Given the description of an element on the screen output the (x, y) to click on. 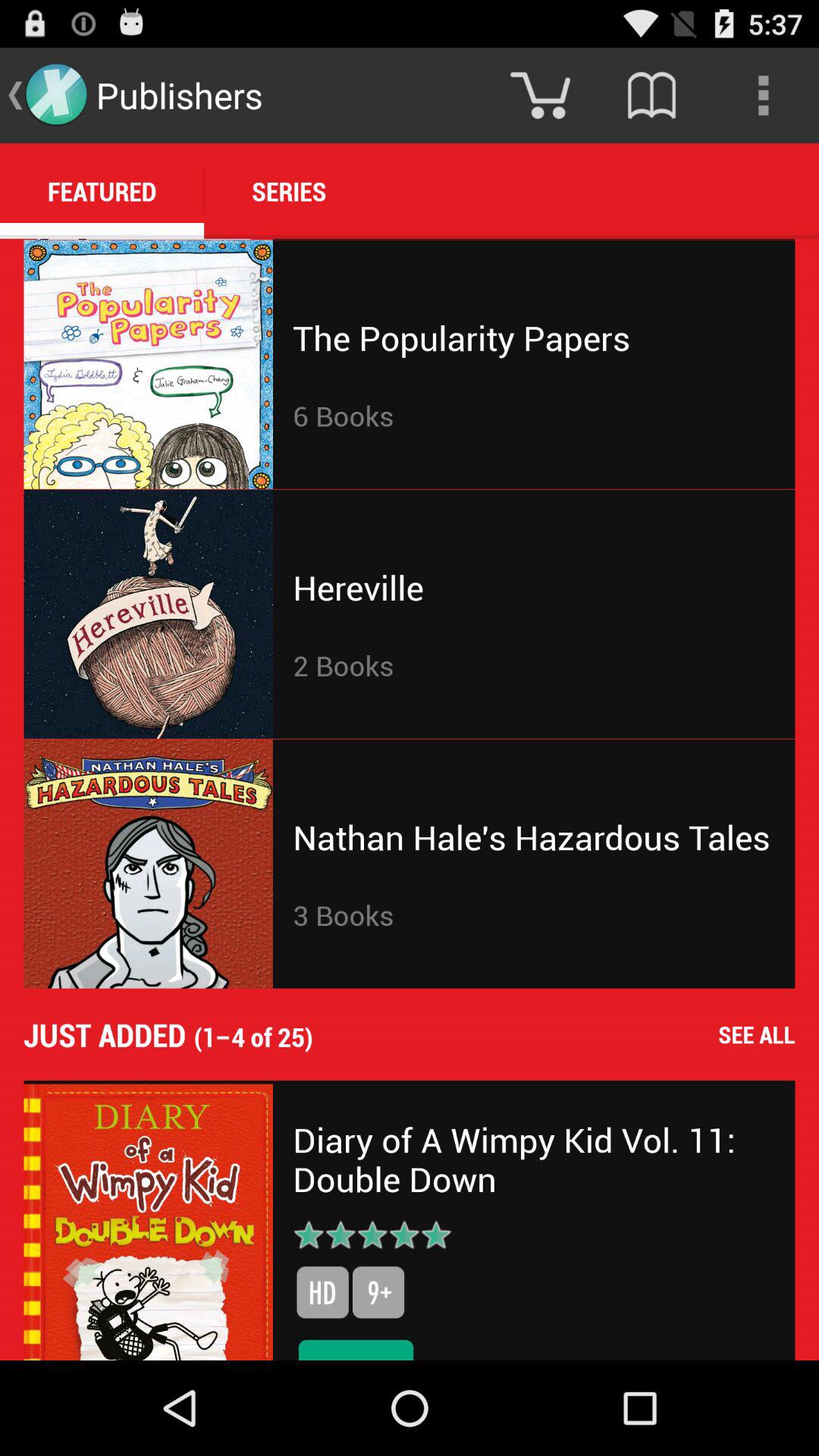
scroll to $7.99 item (355, 1347)
